Given the description of an element on the screen output the (x, y) to click on. 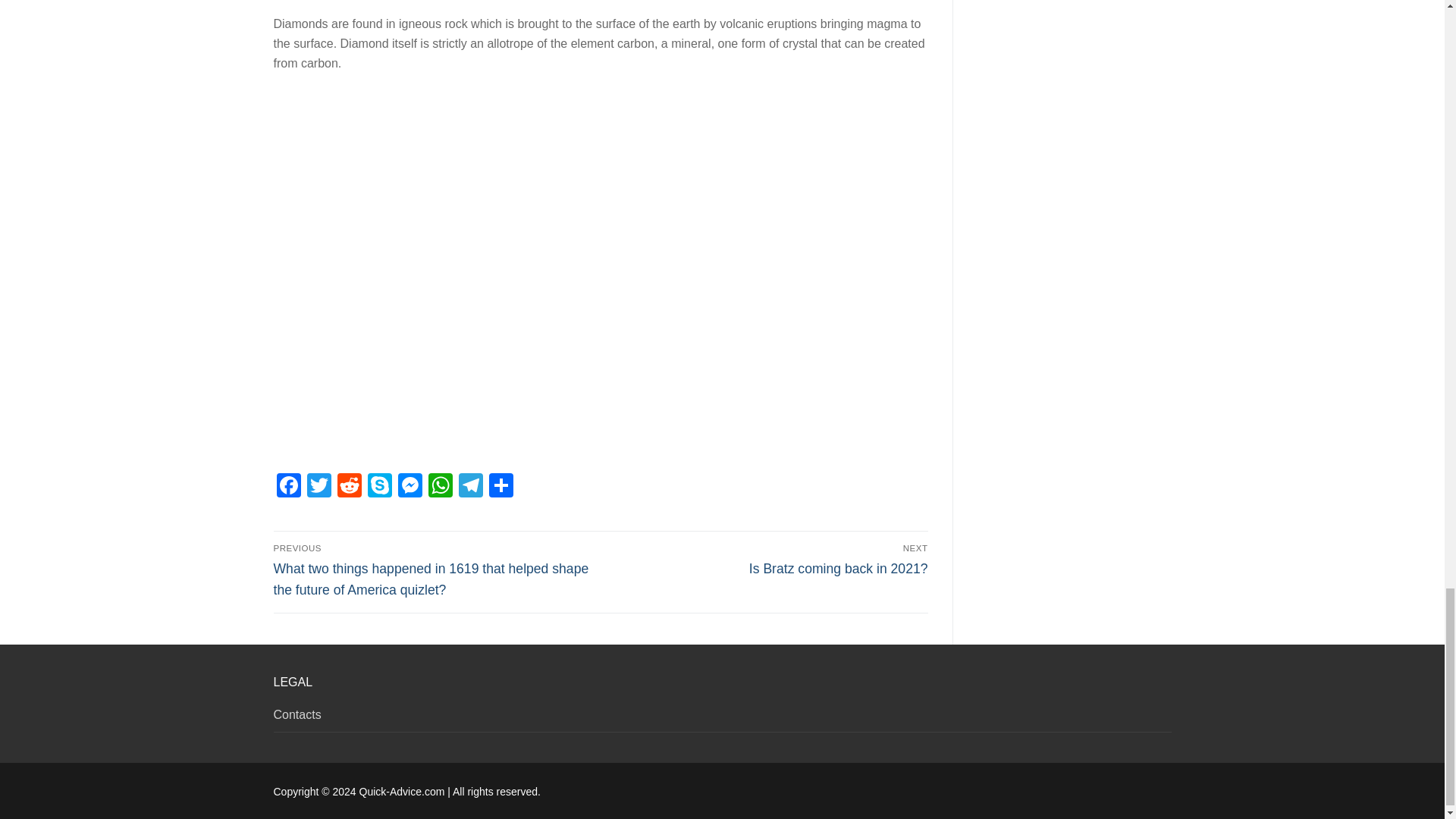
Facebook (287, 487)
Twitter (317, 487)
Skype (379, 487)
Reddit (348, 487)
